Given the description of an element on the screen output the (x, y) to click on. 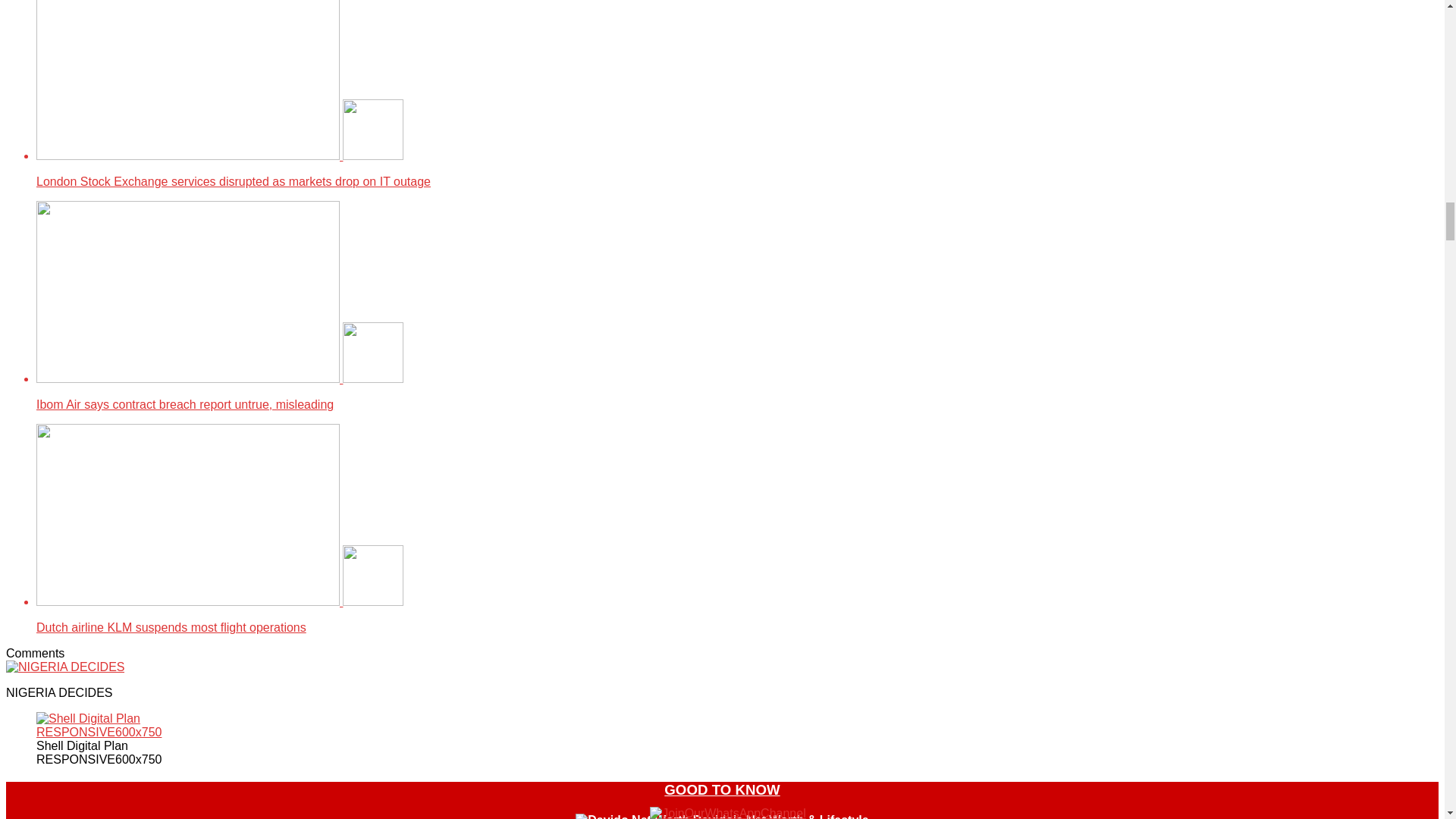
Davido Net Worth (631, 816)
